Given the description of an element on the screen output the (x, y) to click on. 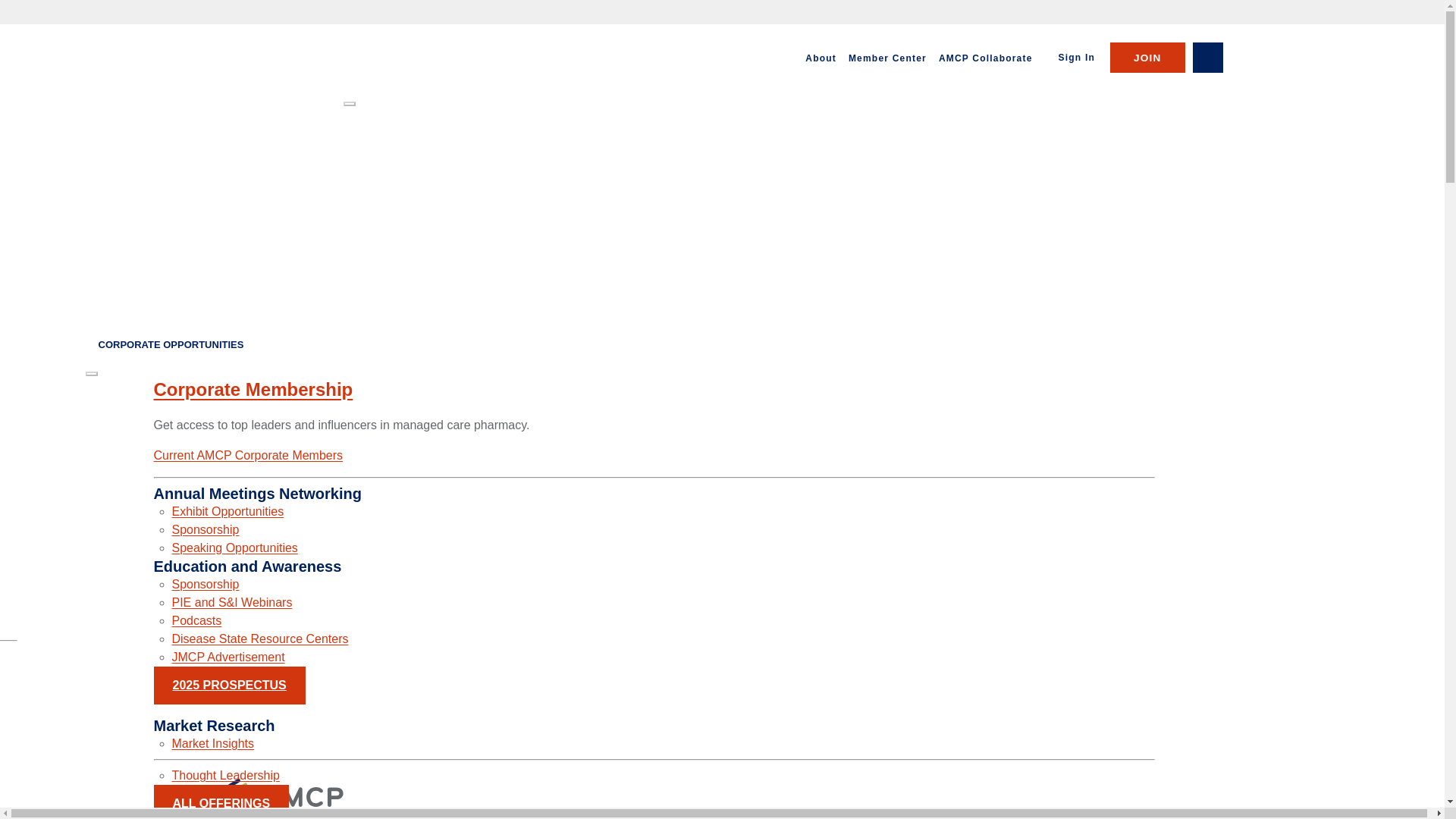
Go to the search page (1207, 57)
Sign In (1076, 57)
JOIN (1147, 57)
Member Center (887, 58)
About (821, 58)
Search (1207, 57)
AMCP Collaborate (985, 58)
Sign In (1076, 57)
